Given the description of an element on the screen output the (x, y) to click on. 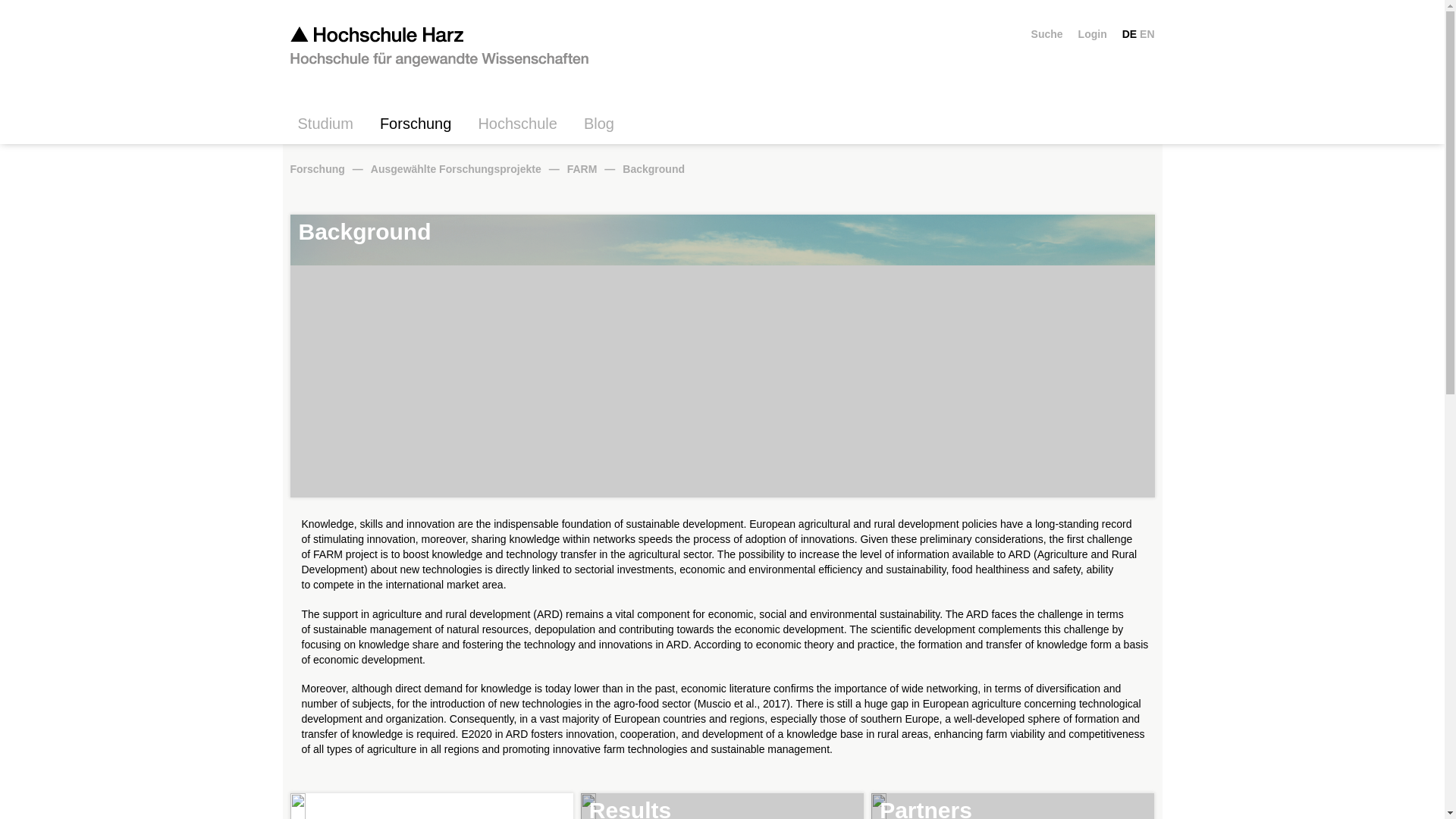
Studium (330, 129)
Jump to English homepage (1147, 33)
